Given the description of an element on the screen output the (x, y) to click on. 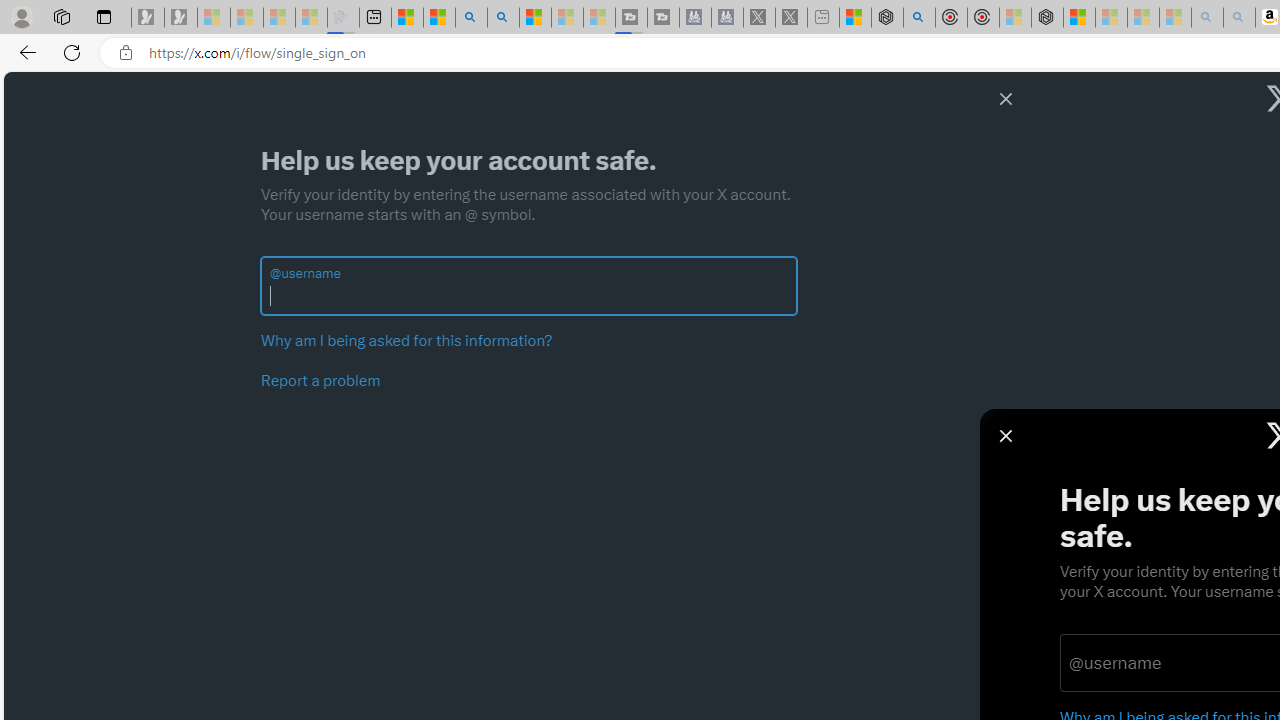
amazon - Search - Sleeping (1206, 17)
Nordace - Nordace Siena Is Not An Ordinary Backpack (1047, 17)
Newsletter Sign Up - Sleeping (181, 17)
